Given the description of an element on the screen output the (x, y) to click on. 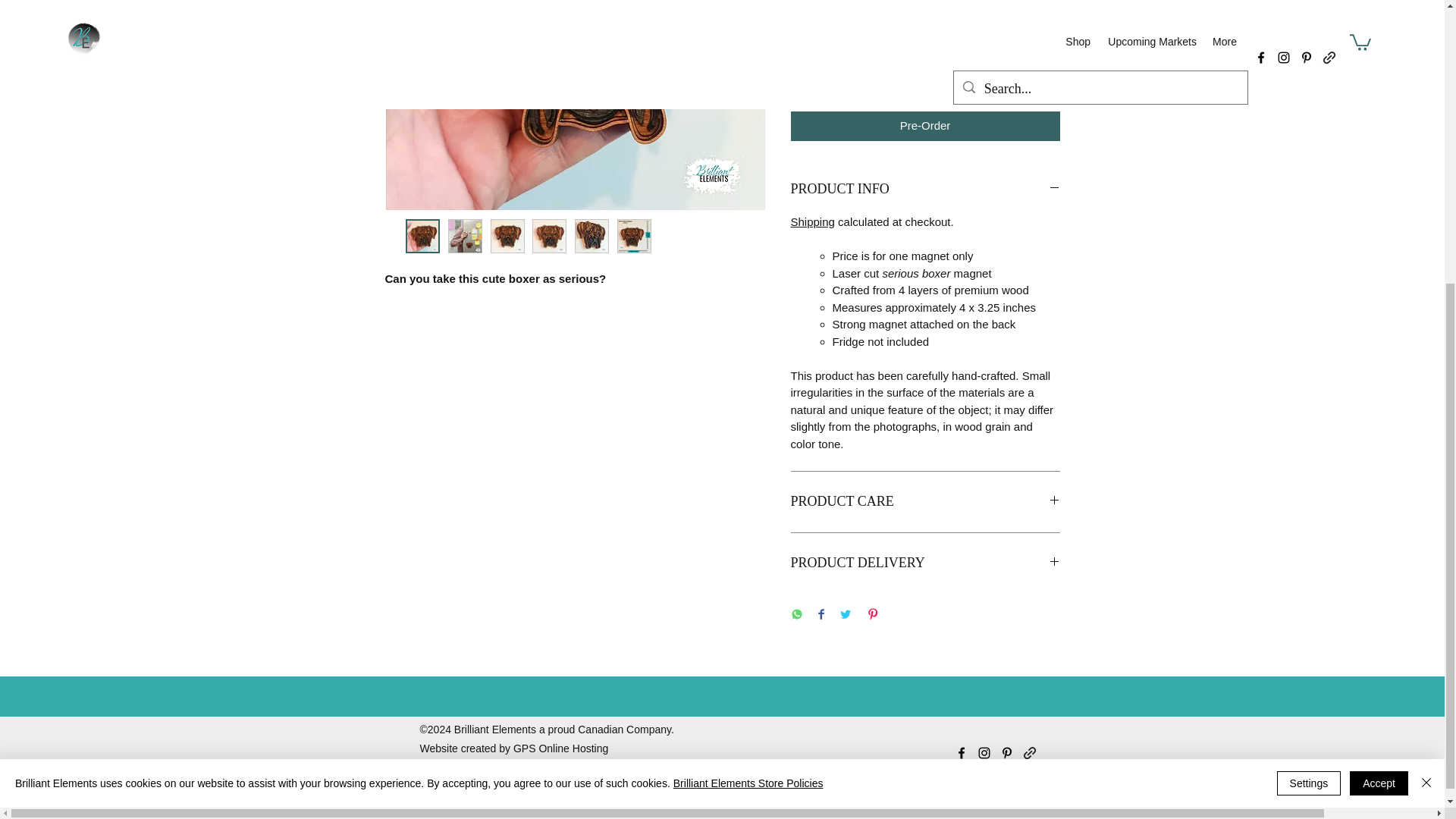
Pre-Order (924, 125)
PRODUCT INFO (924, 189)
1 (827, 17)
PRODUCT CARE (924, 501)
Shipping (812, 221)
PRODUCT DELIVERY (924, 563)
